Given the description of an element on the screen output the (x, y) to click on. 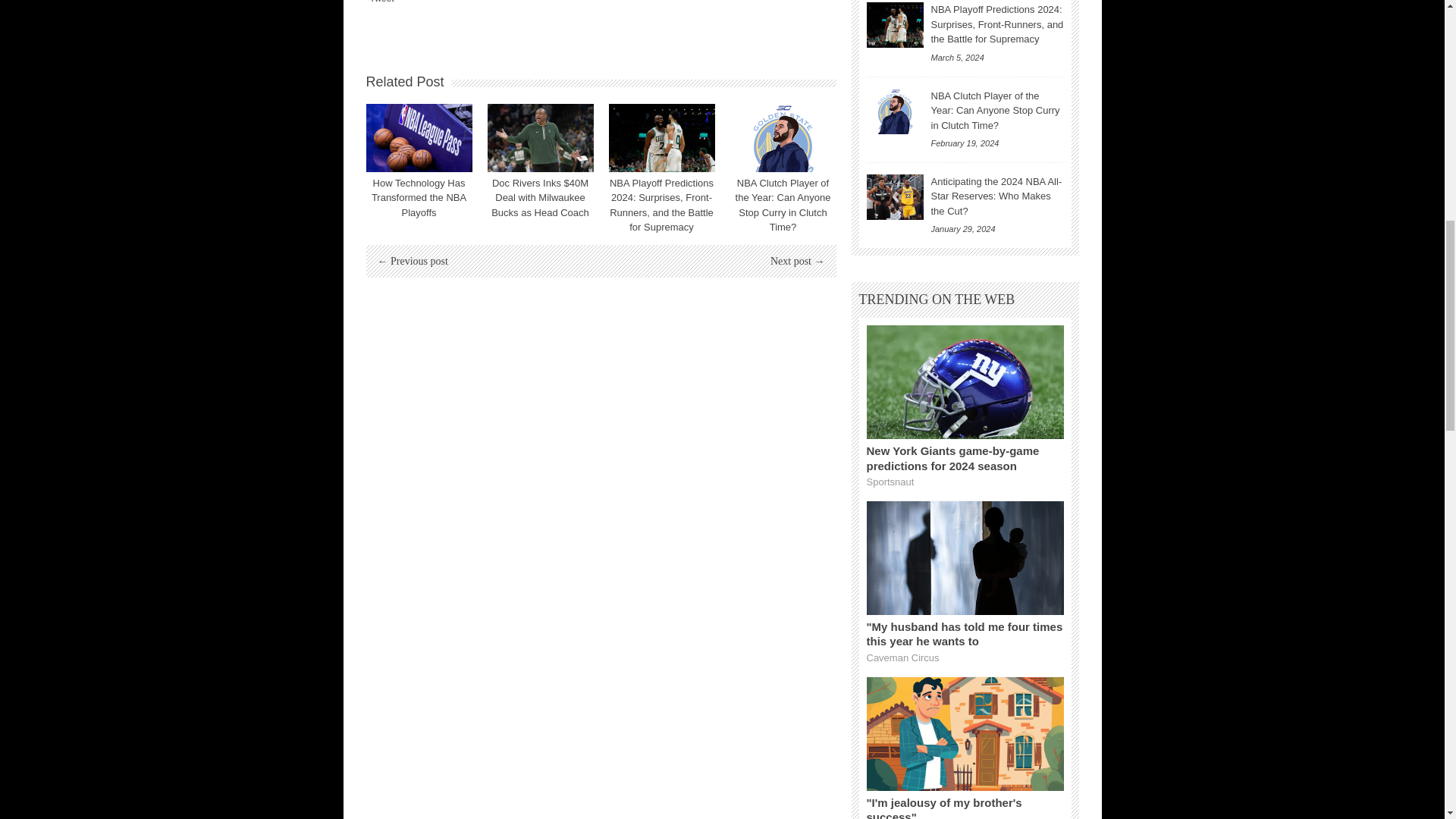
How Technology Has Transformed the NBA Playoffs (418, 197)
How Technology Has Transformed the NBA Playoffs (418, 137)
